Given the description of an element on the screen output the (x, y) to click on. 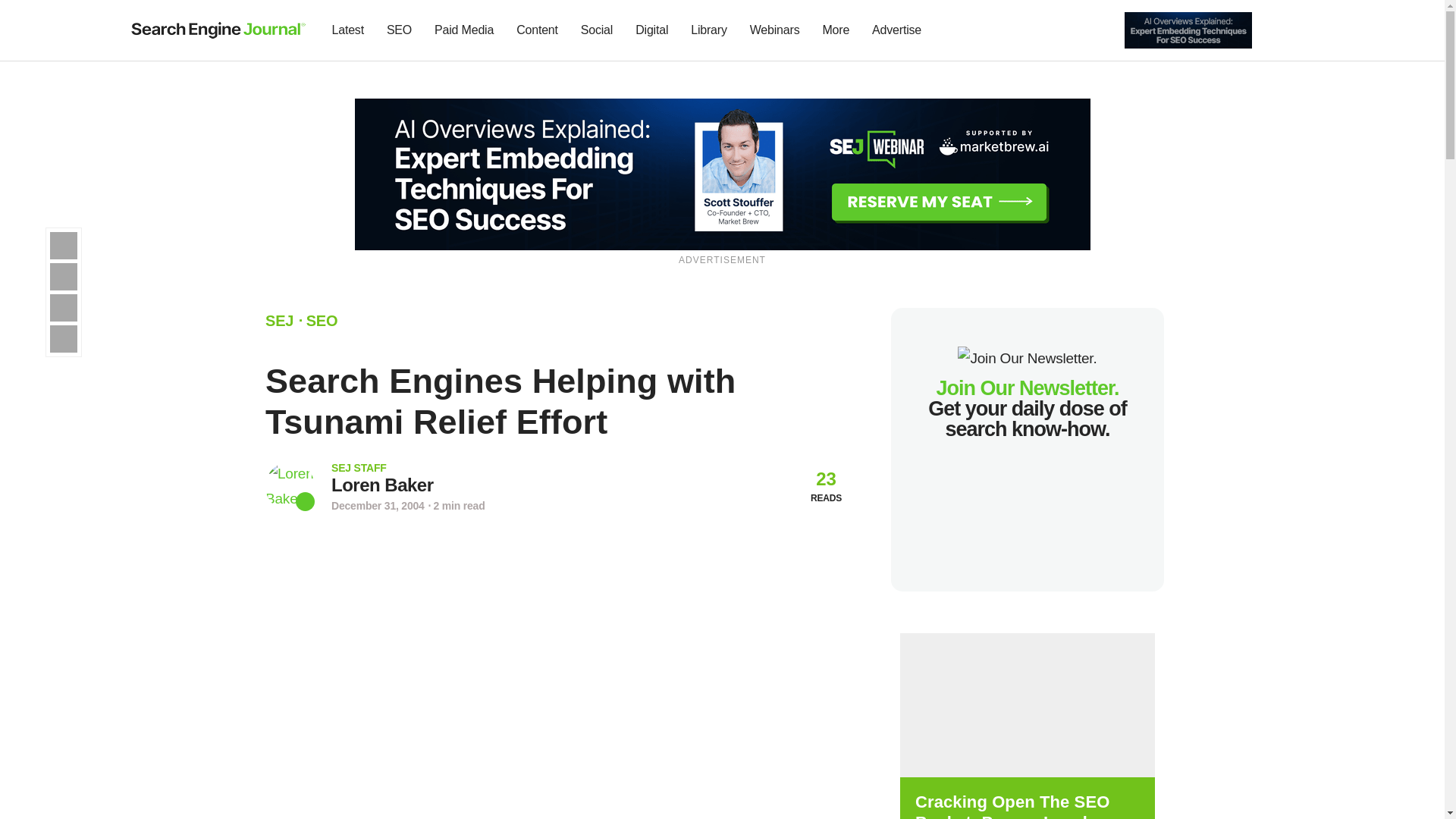
Subscribe to our Newsletter (1277, 30)
Go to Author Page (382, 485)
Register For Free (722, 172)
Go to Author Page (289, 486)
Register For Free (1187, 28)
Latest (347, 30)
Paid Media (464, 30)
